Given the description of an element on the screen output the (x, y) to click on. 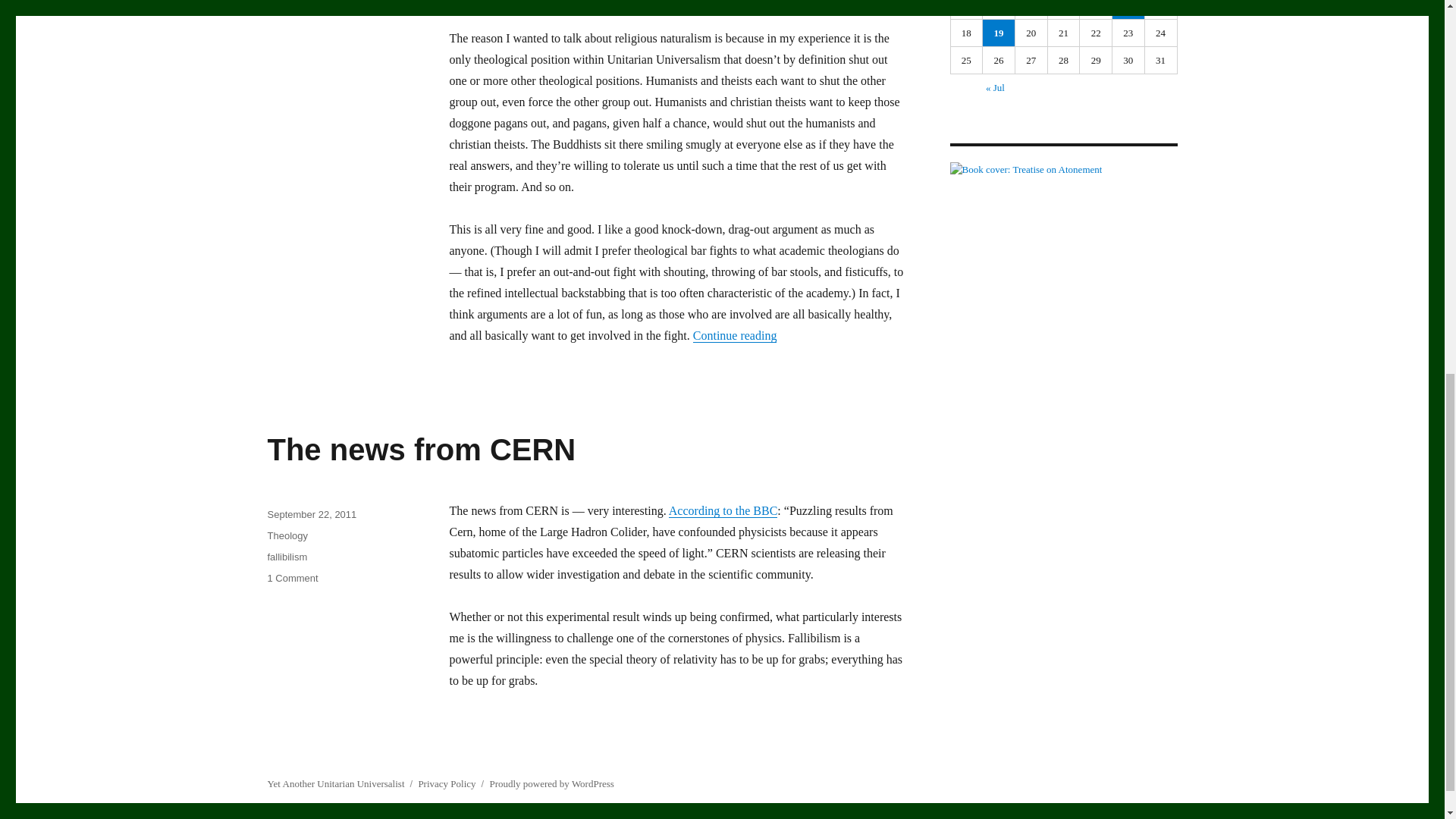
fallibilism (286, 556)
The news from CERN (420, 449)
16 (1128, 9)
September 22, 2011 (311, 514)
19 (998, 32)
Theology (286, 535)
According to the BBC (291, 577)
